Given the description of an element on the screen output the (x, y) to click on. 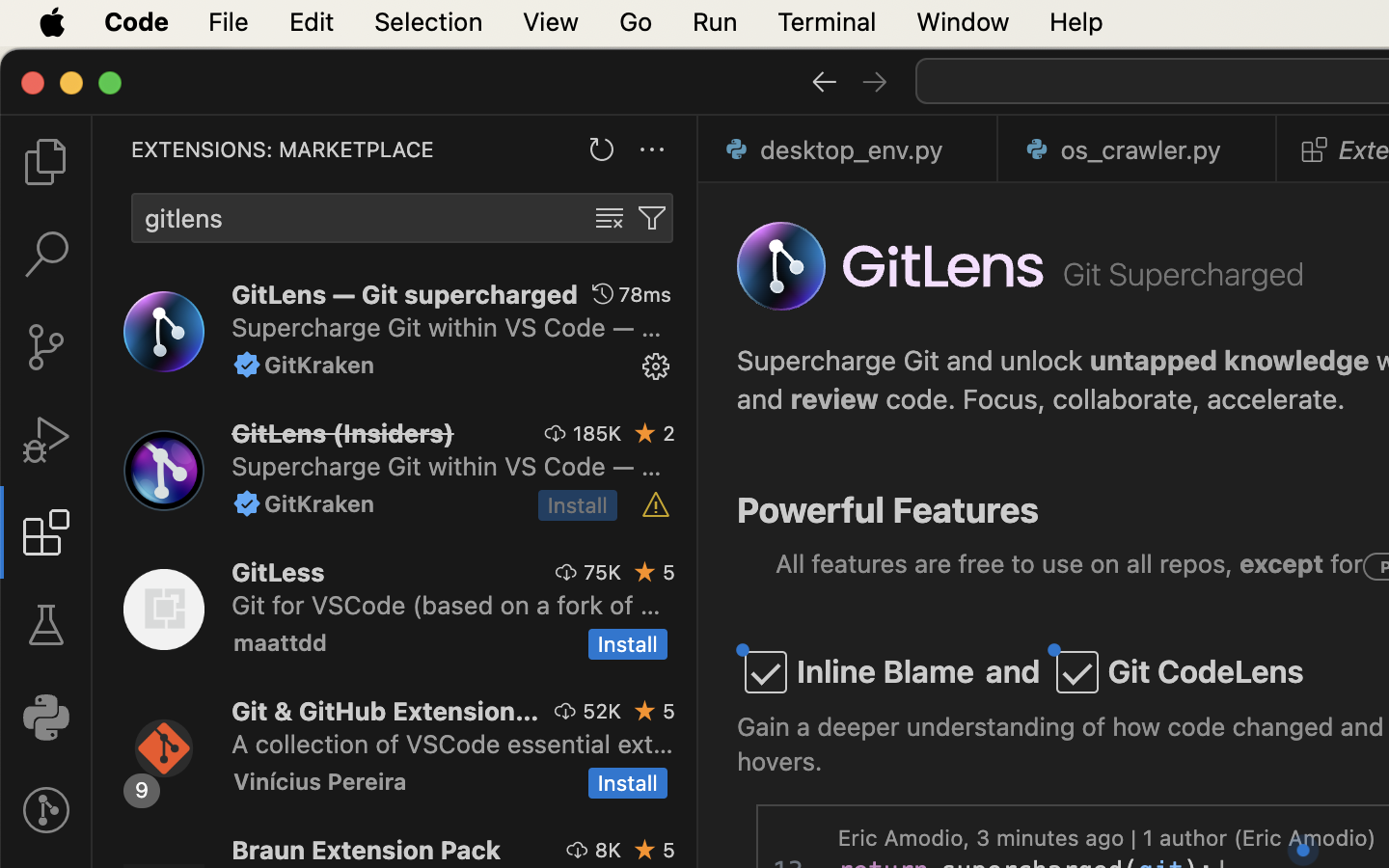
 Element type: AXStaticText (602, 293)
EXTENSIONS: MARKETPLACE Element type: AXStaticText (282, 149)
GitKraken Element type: AXStaticText (320, 364)
and Element type: AXStaticText (1013, 671)
0  Element type: AXRadioButton (46, 254)
